Given the description of an element on the screen output the (x, y) to click on. 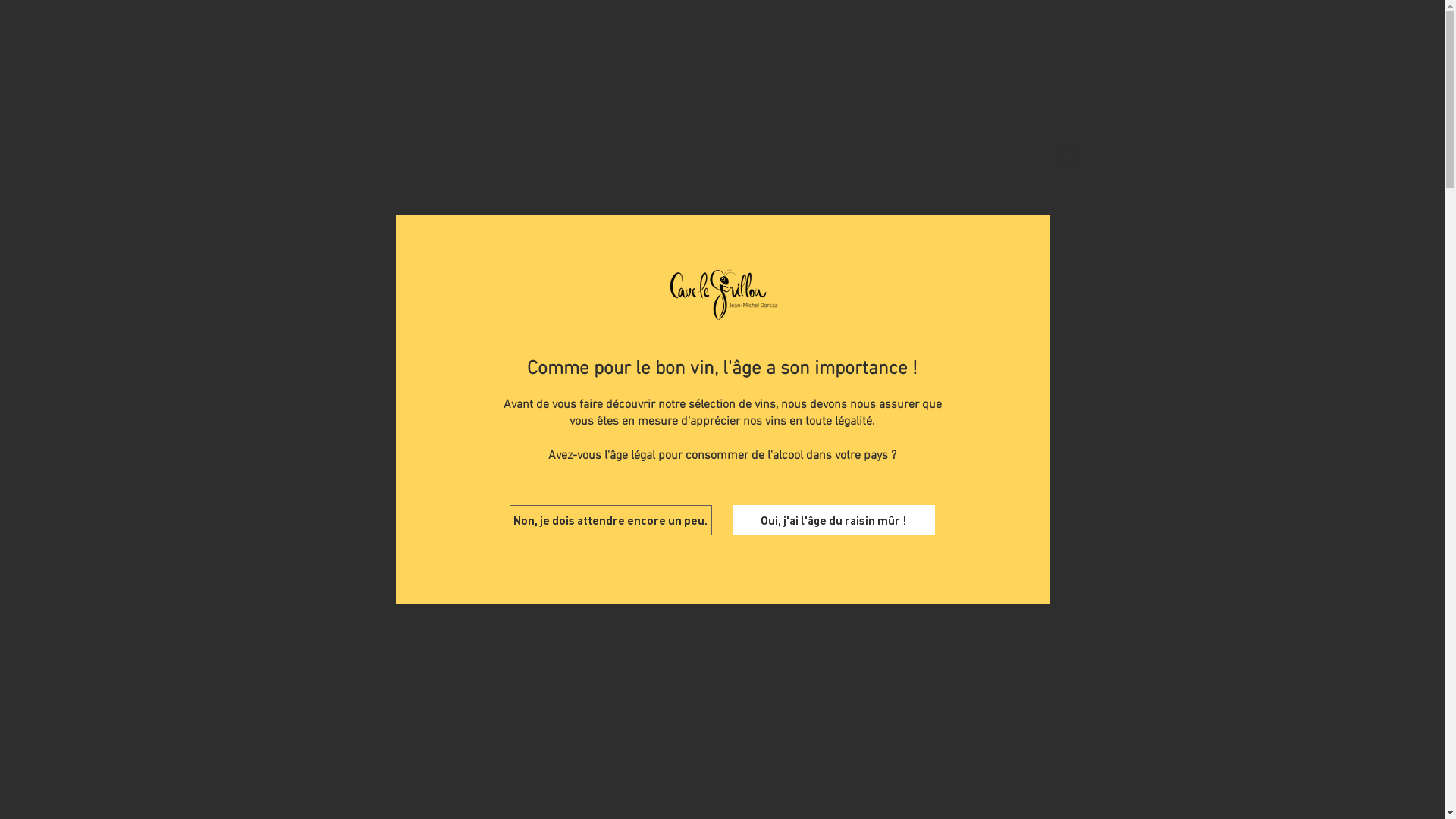
Non, je dois attendre encore un peu. Element type: text (610, 520)
0 Element type: text (1076, 30)
Retour au site Element type: hover (1066, 153)
Boutique Element type: text (698, 29)
Accueil Element type: text (464, 29)
Nous contacter Element type: text (928, 29)
La cave & son domaine Element type: text (579, 29)
